Given the description of an element on the screen output the (x, y) to click on. 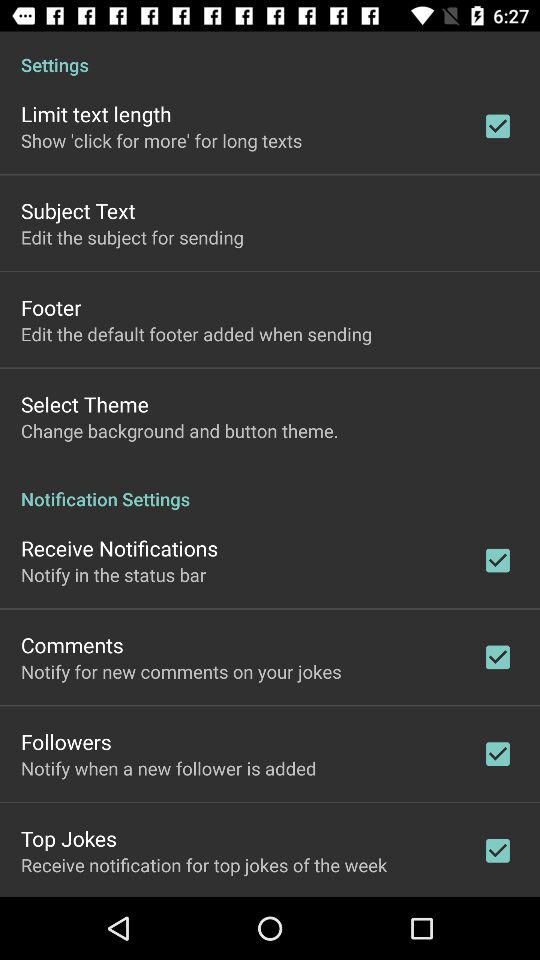
open notification settings item (270, 488)
